Given the description of an element on the screen output the (x, y) to click on. 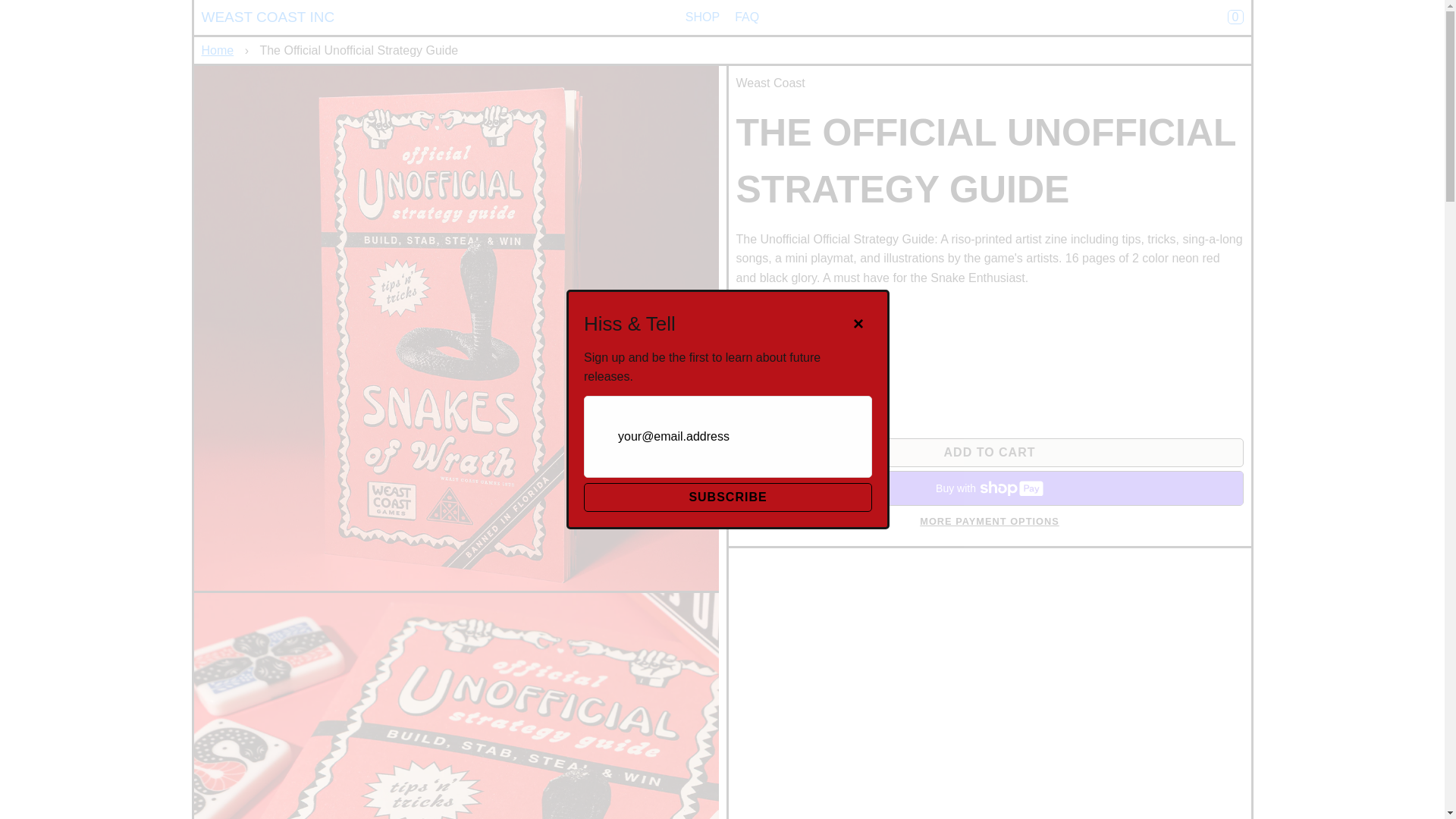
MORE PAYMENT OPTIONS (989, 521)
Home (220, 50)
SUBSCRIBE (727, 497)
0 (1235, 17)
SHOP (702, 17)
ADD TO CART (989, 452)
Home (220, 50)
FAQ (746, 17)
